Given the description of an element on the screen output the (x, y) to click on. 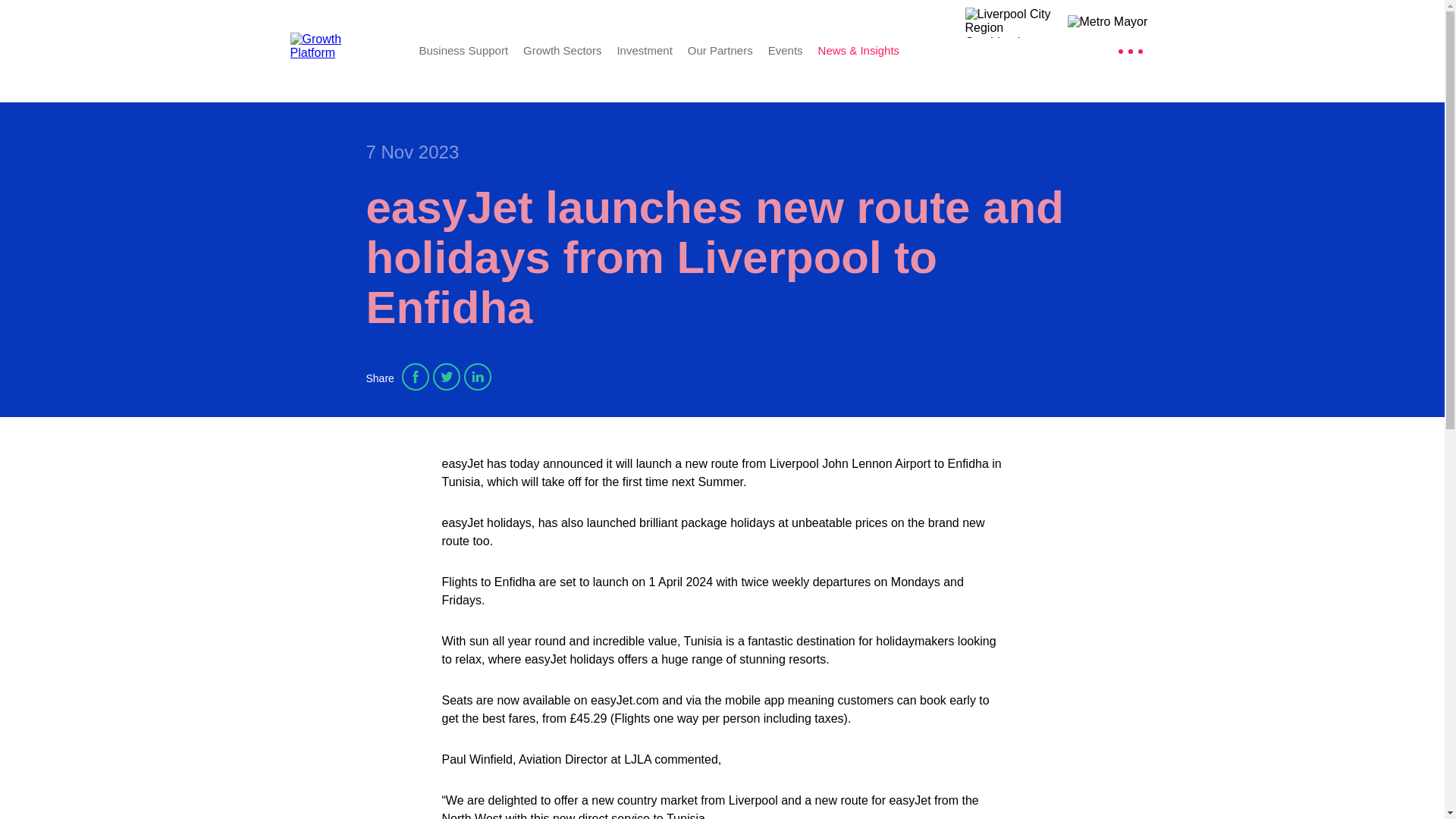
Go to Growth Platform homepage (342, 50)
Investment (643, 50)
Our Partners (719, 50)
Growth Sectors (561, 50)
Business Support (463, 50)
